Given the description of an element on the screen output the (x, y) to click on. 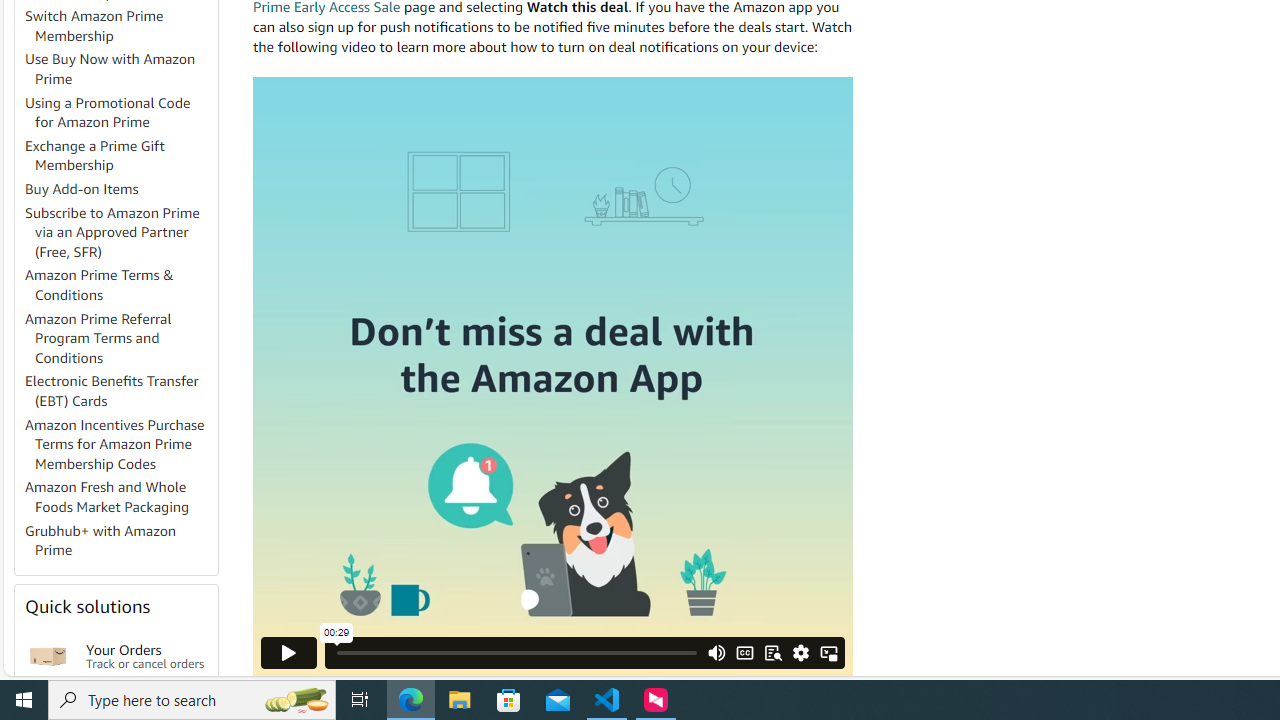
Class: PrefsButton_module_gearIcon__39297261 (801, 652)
Exchange a Prime Gift Membership (95, 155)
Amazon Prime Referral Program Terms and Conditions (120, 338)
Amazon Prime Terms & Conditions (99, 284)
Use Buy Now with Amazon Prime (120, 69)
Switch Amazon Prime Membership (120, 26)
Electronic Benefits Transfer (EBT) Cards (111, 390)
Buy Add-on Items (82, 189)
Mute (717, 652)
Class: PlayButton_module_playIcon__8a61c7e4 (289, 652)
Amazon Fresh and Whole Foods Market Packaging (107, 497)
